Given the description of an element on the screen output the (x, y) to click on. 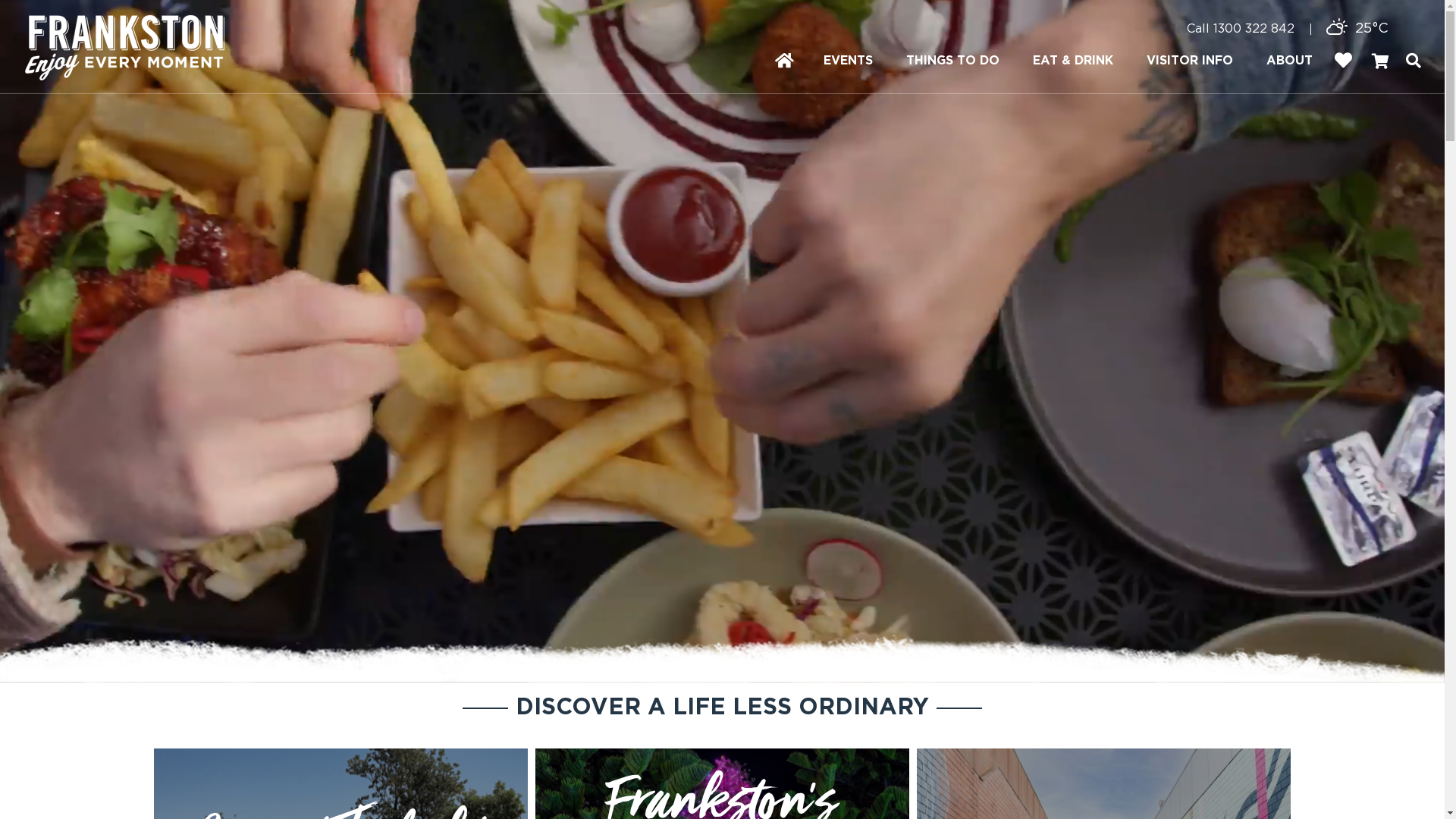
1300 322 842 Element type: text (1253, 28)
VISITOR INFO Element type: text (1189, 60)
Weather forecast for today: Showers increasing. Element type: hover (1335, 29)
EAT & DRINK Element type: text (1072, 60)
HOME Element type: text (782, 59)
THINGS TO DO Element type: text (951, 60)
ABOUT Element type: text (1289, 60)
EVENTS Element type: text (847, 60)
